Given the description of an element on the screen output the (x, y) to click on. 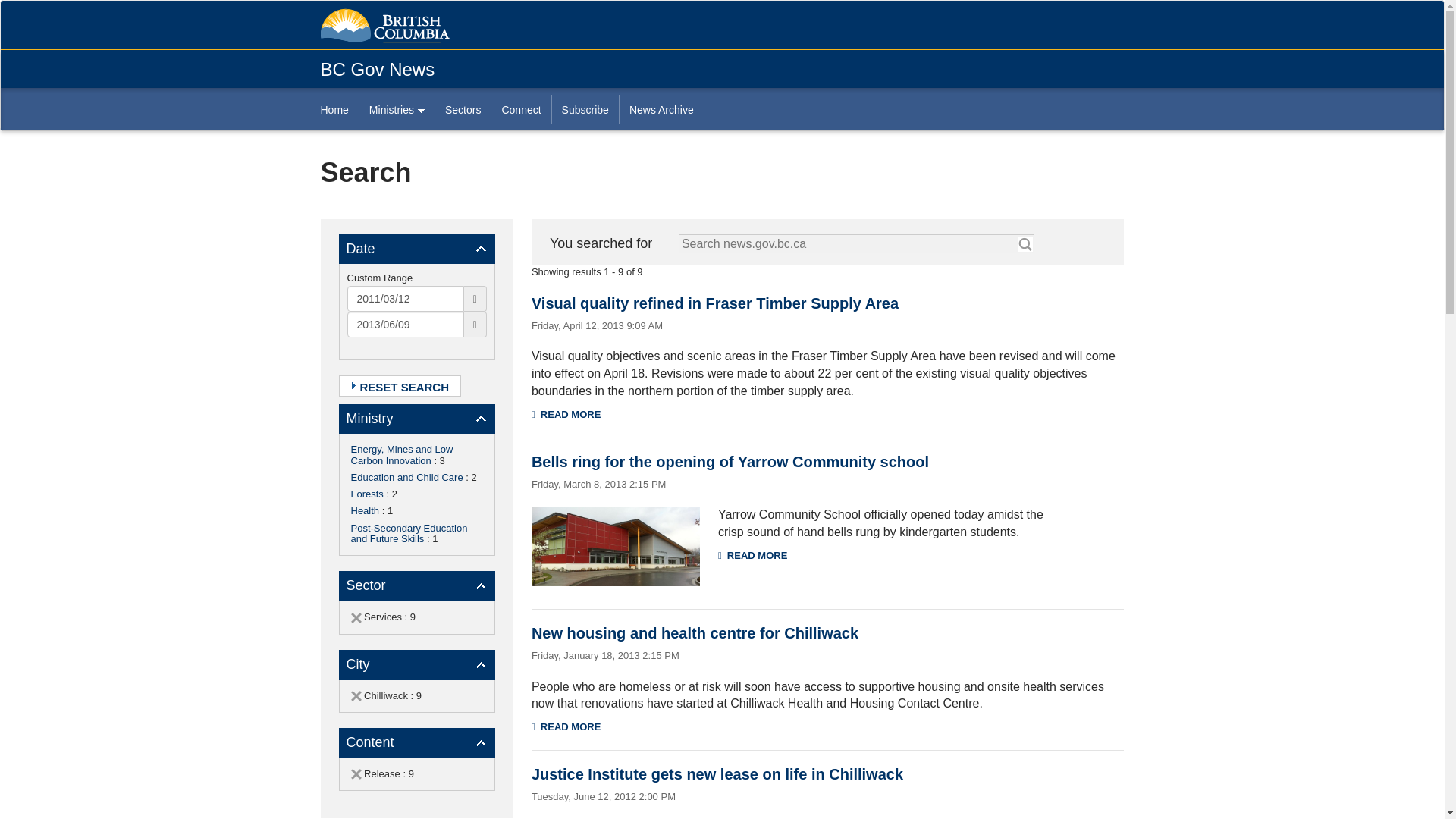
BC Gov News (376, 68)
News Archive (660, 109)
Government of B.C. (384, 25)
Subscribe (584, 109)
Home (339, 109)
Connect (520, 109)
Ministries (395, 109)
Sectors (461, 109)
